Given the description of an element on the screen output the (x, y) to click on. 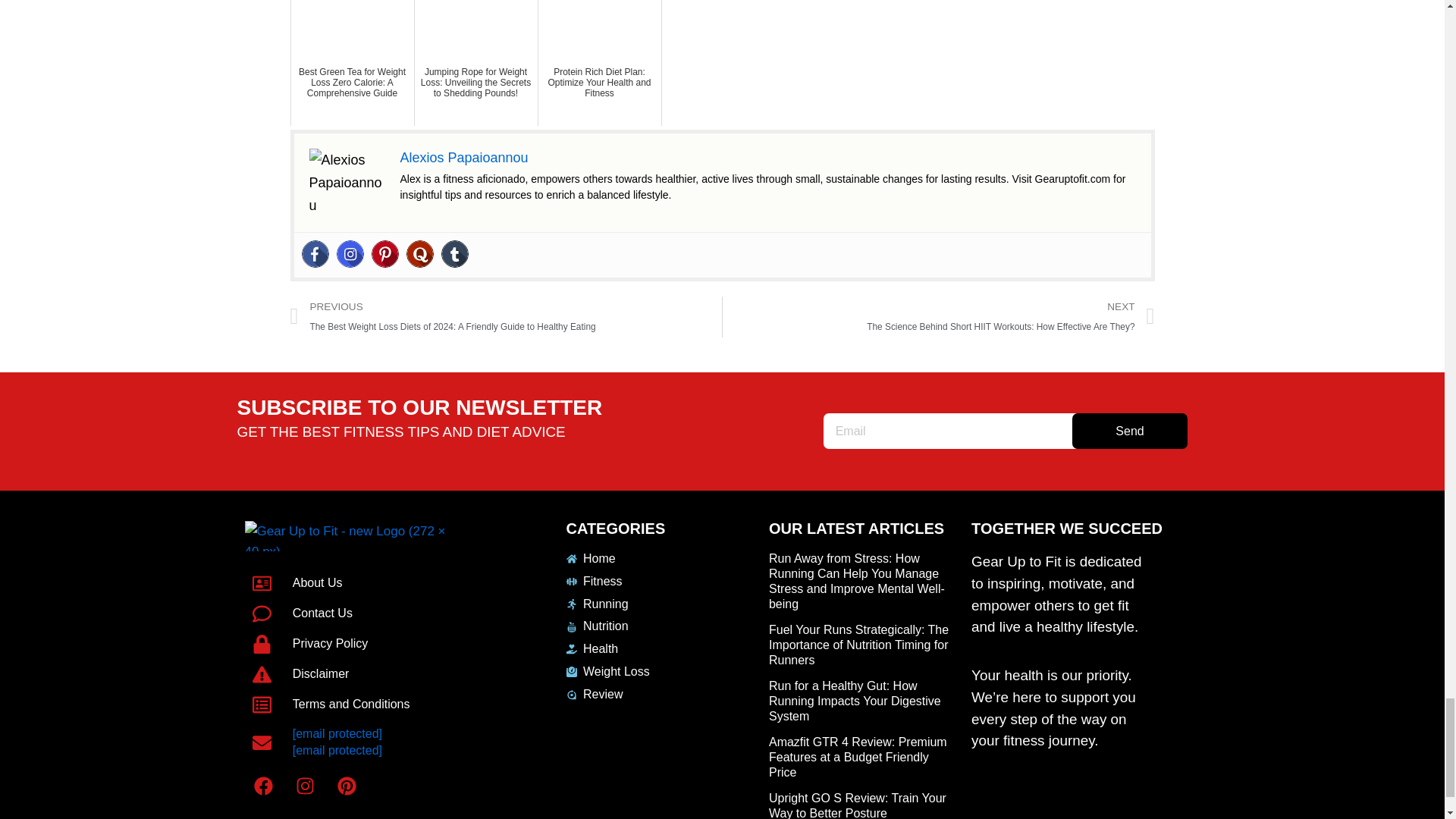
Contact Us (358, 613)
Send (1129, 430)
Disclaimer (358, 674)
Privacy Policy (358, 643)
Protein Rich Diet Plan: Optimize Your Health and Fitness (599, 63)
Quora (419, 253)
About Us (358, 583)
